Given the description of an element on the screen output the (x, y) to click on. 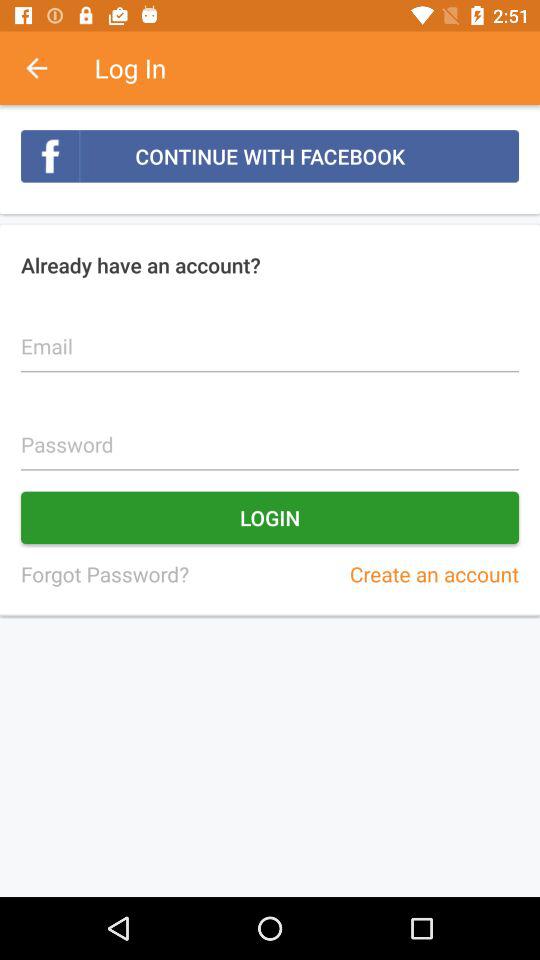
choose login icon (270, 517)
